Given the description of an element on the screen output the (x, y) to click on. 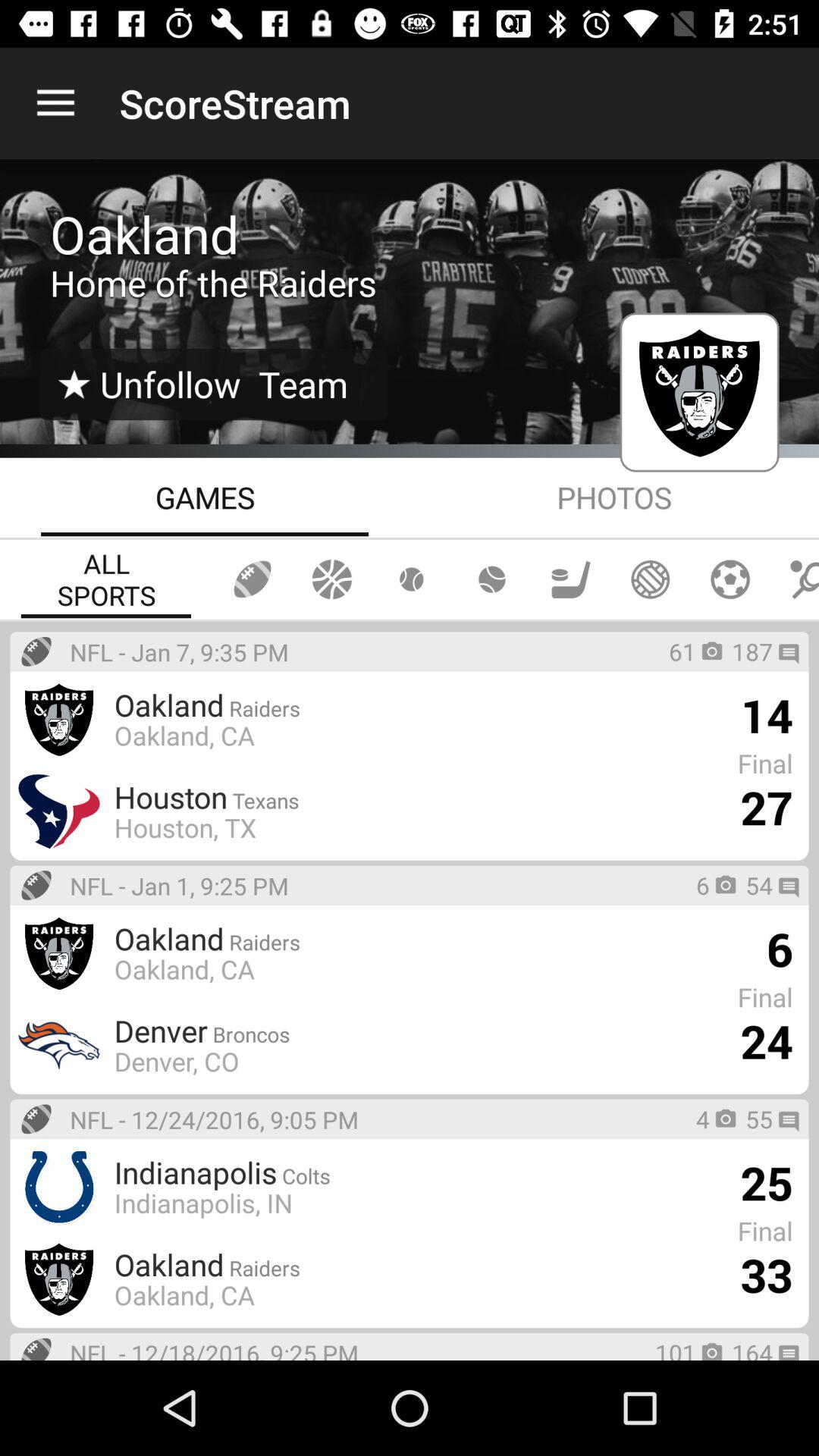
turn on icon below 14 (766, 806)
